Given the description of an element on the screen output the (x, y) to click on. 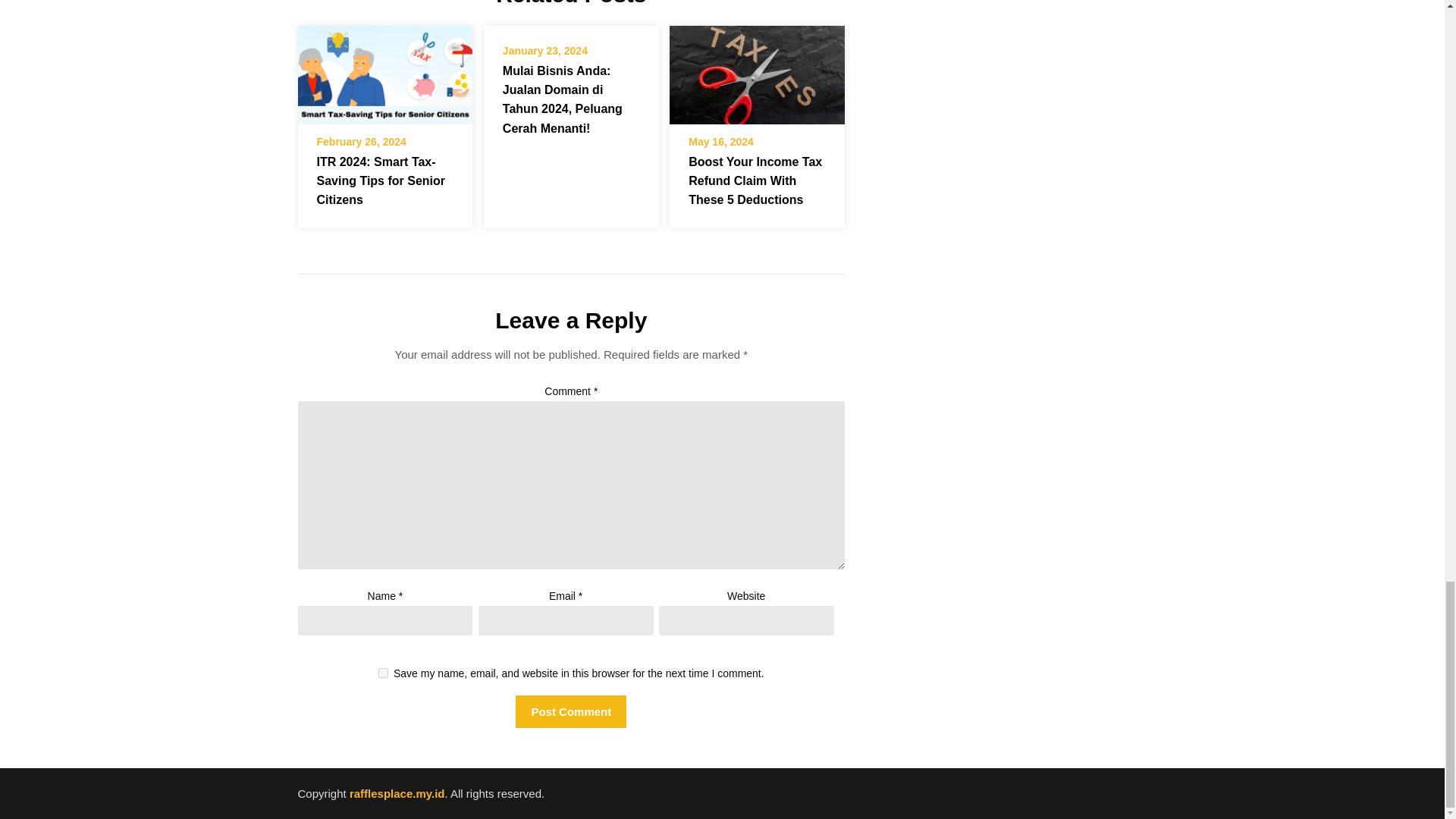
ITR 2024: Smart Tax-Saving Tips for Senior Citizens (381, 180)
yes (383, 673)
Boost Your Income Tax Refund Claim With These 5 Deductions (755, 180)
ITR 2024: Smart Tax-Saving Tips for Senior Citizens (384, 74)
Post Comment (570, 711)
Boost Your Income Tax Refund Claim With These 5 Deductions (756, 69)
Boost Your Income Tax Refund Claim With These 5 Deductions (756, 74)
ITR 2024: Smart Tax-Saving Tips for Senior Citizens (384, 69)
Post Comment (570, 711)
